Given the description of an element on the screen output the (x, y) to click on. 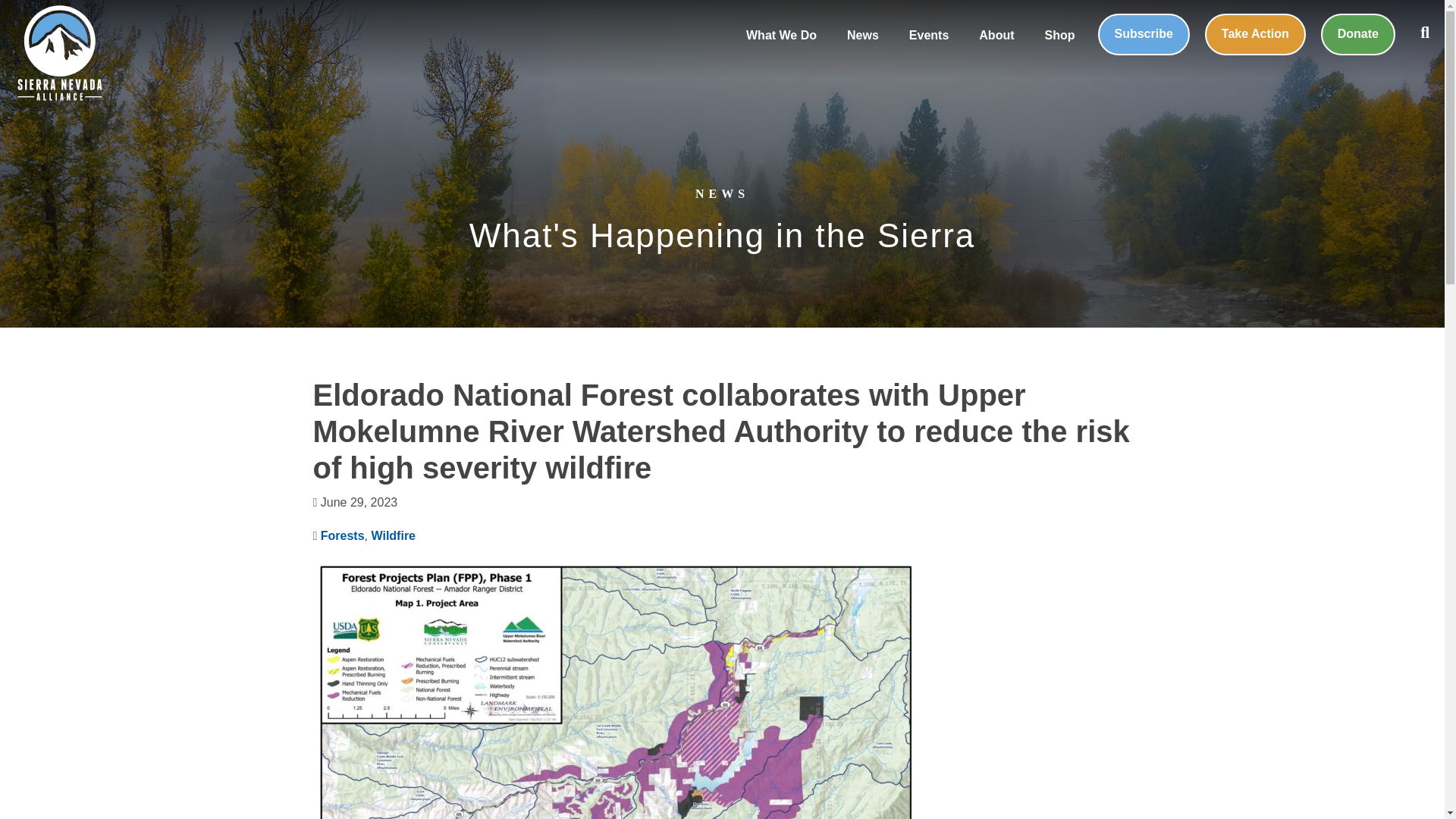
What We Do (780, 35)
Shop (1059, 35)
Events (928, 35)
News (862, 35)
About (996, 35)
